Given the description of an element on the screen output the (x, y) to click on. 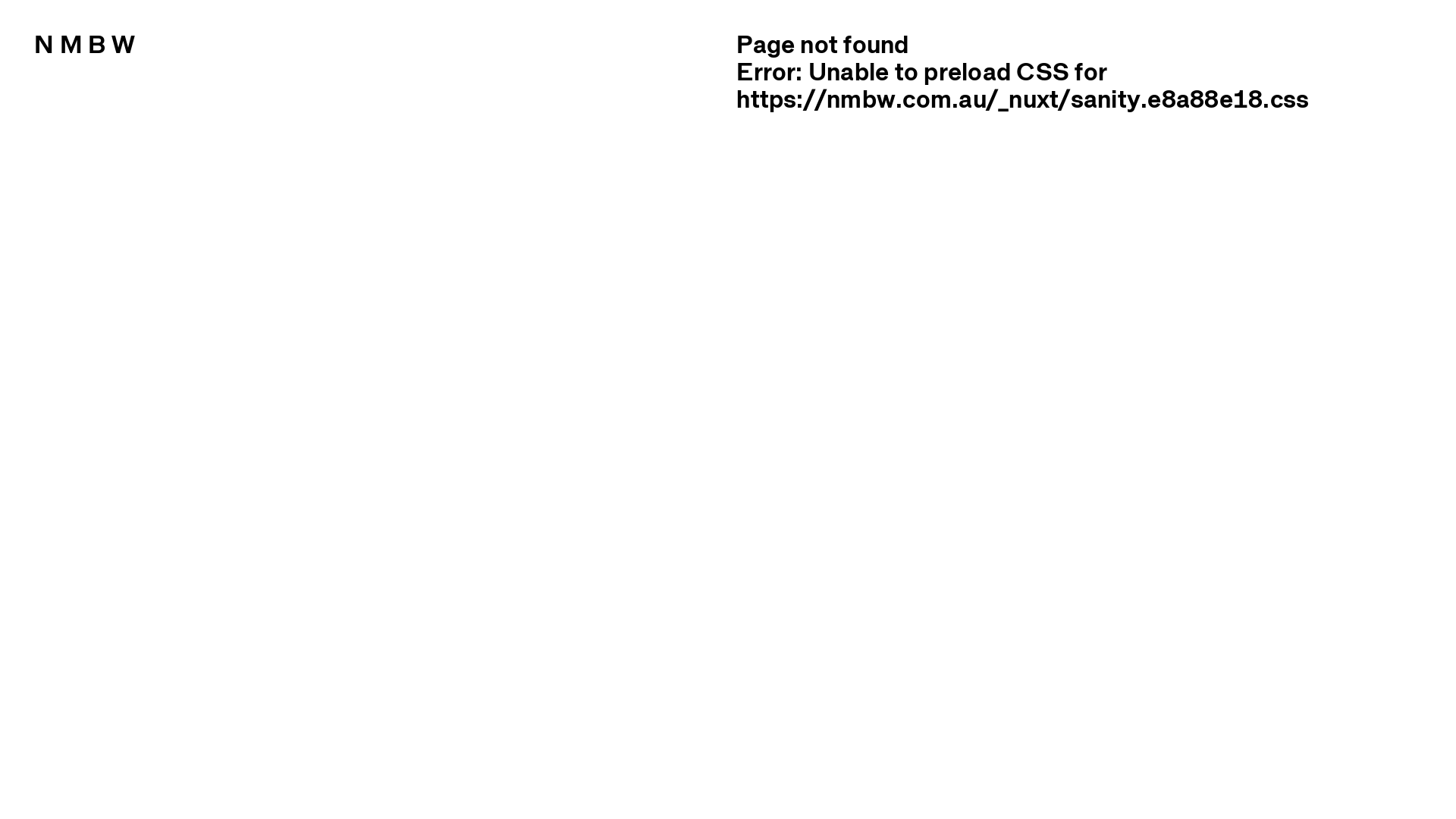
N M B W Element type: text (84, 42)
